Given the description of an element on the screen output the (x, y) to click on. 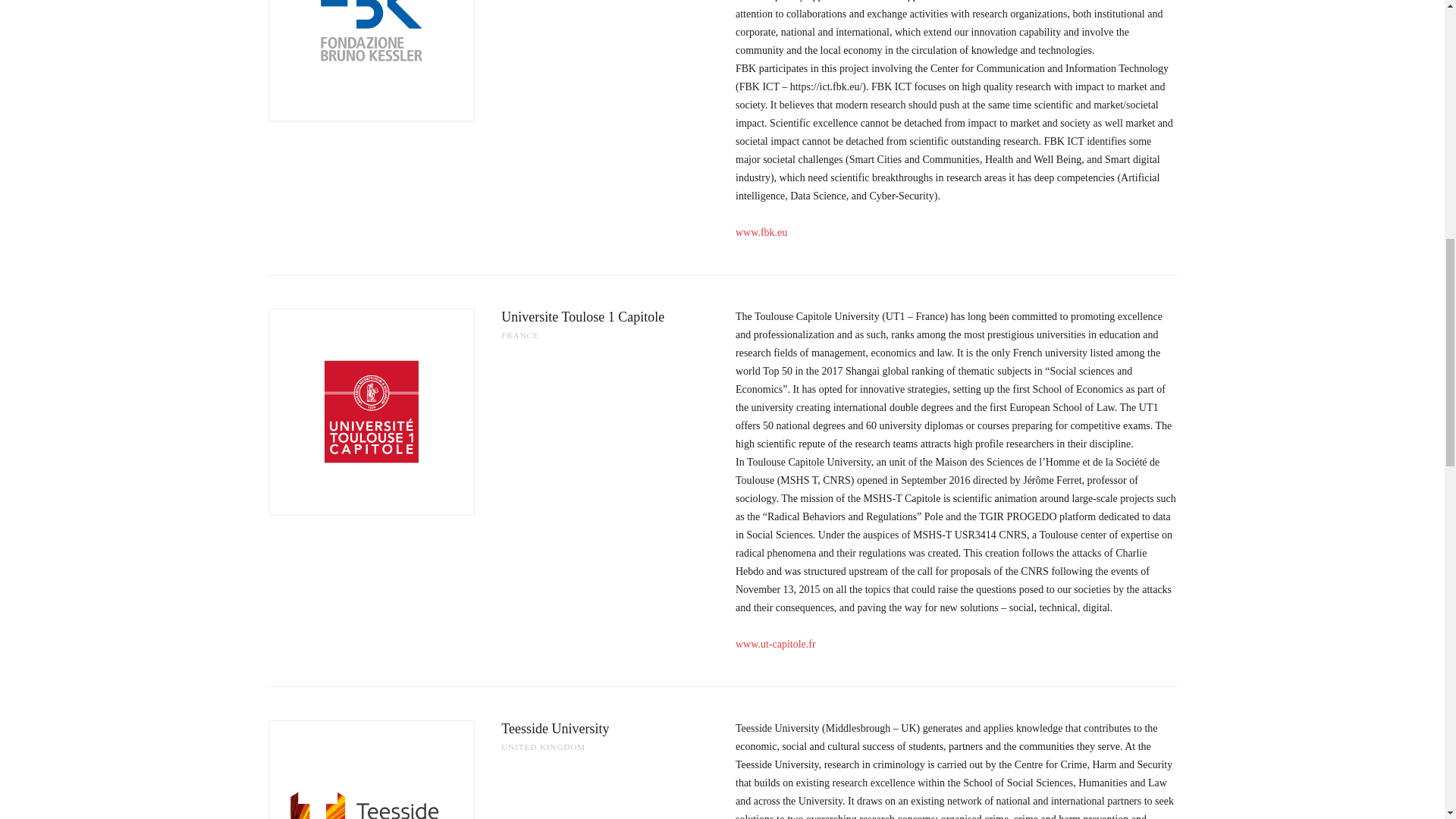
www.fbk.eu (761, 232)
www.ut-capitole.fr (775, 644)
